Given the description of an element on the screen output the (x, y) to click on. 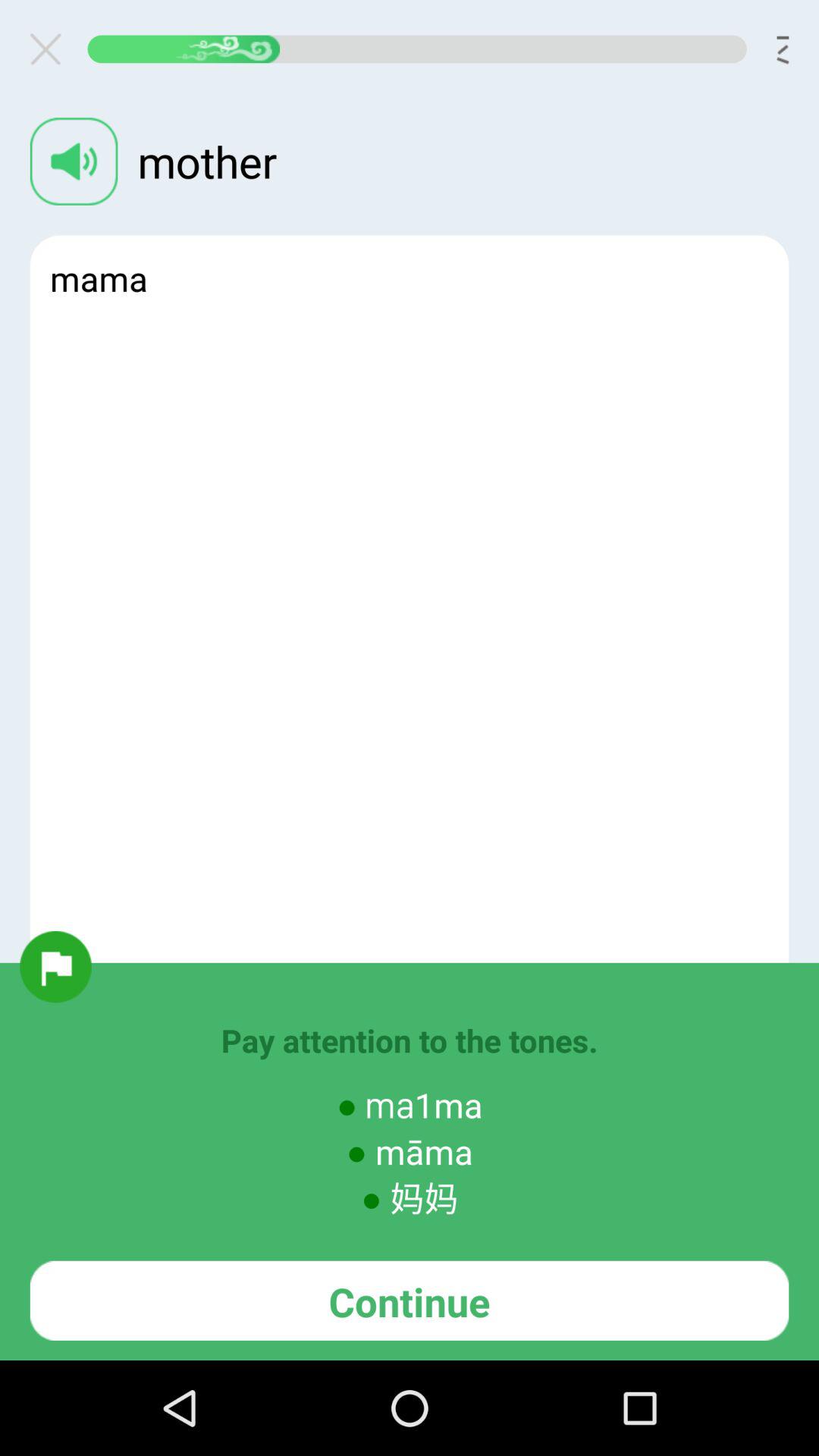
close the page (51, 49)
